Given the description of an element on the screen output the (x, y) to click on. 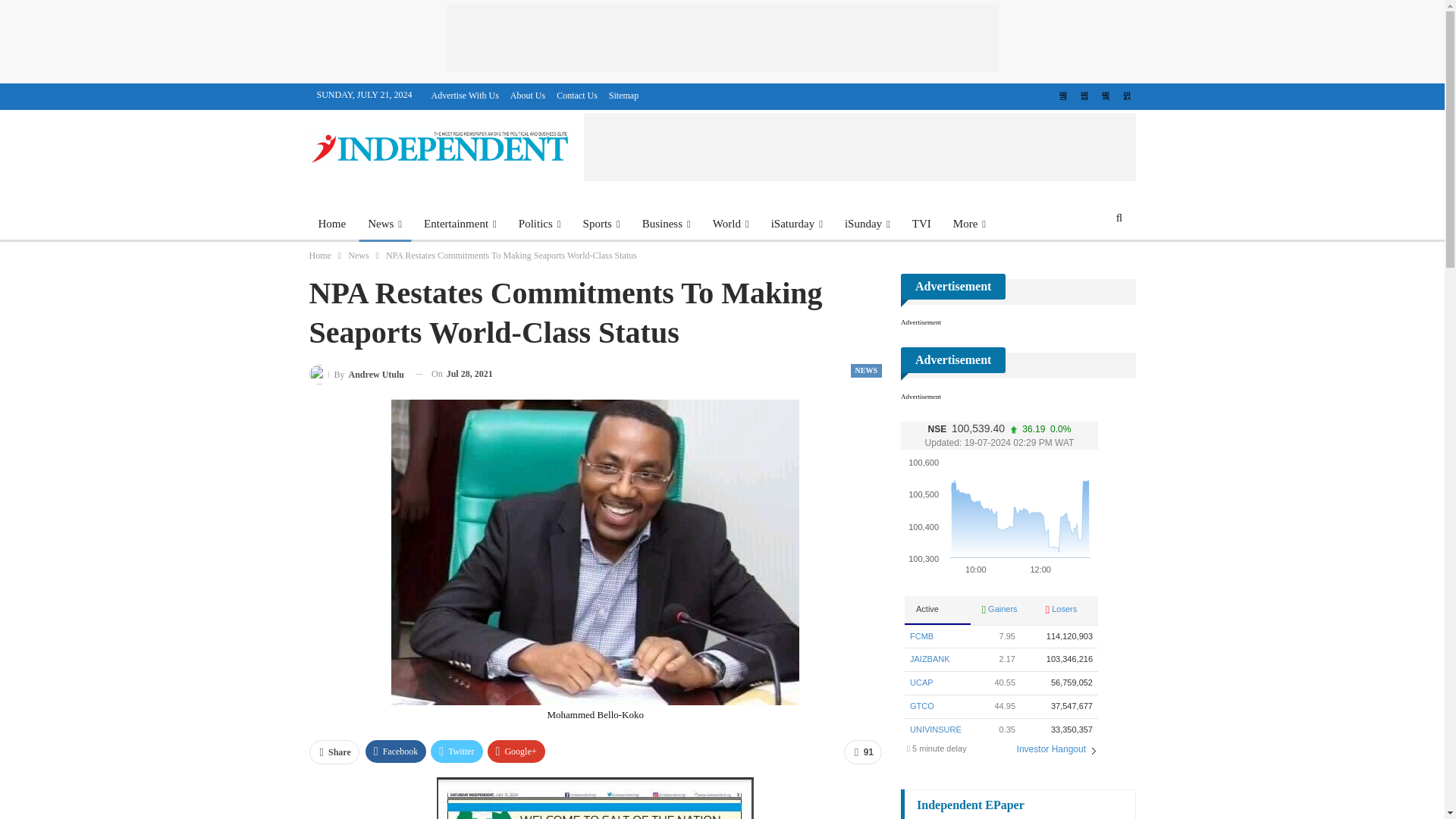
Home (331, 223)
Contact Us (576, 95)
Advertisement (721, 38)
About Us (527, 95)
Entertainment (459, 223)
Advertise With Us (464, 95)
Advertisement (859, 146)
Politics (539, 223)
Sitemap (623, 95)
News (384, 223)
